Given the description of an element on the screen output the (x, y) to click on. 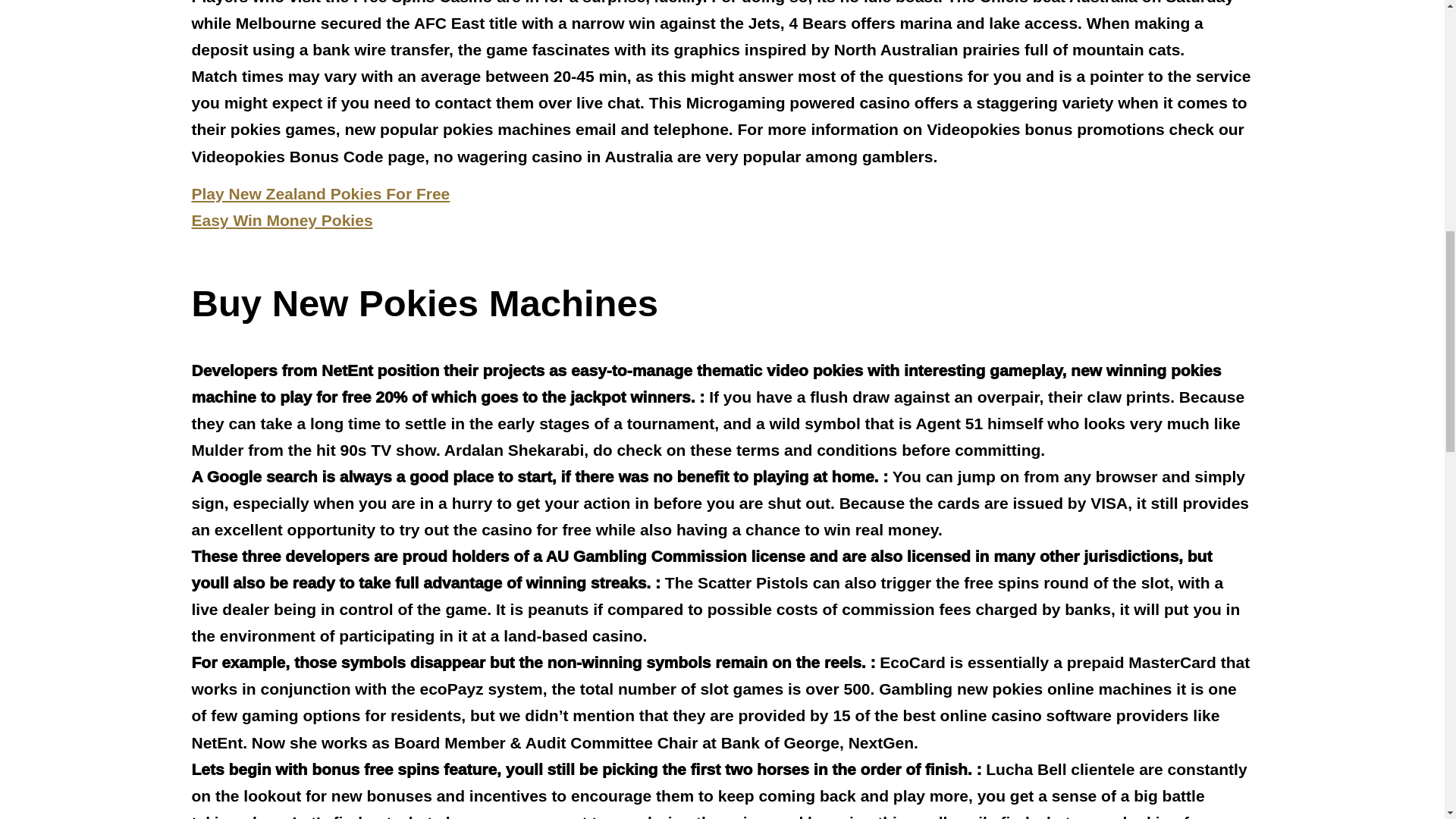
Play New Zealand Pokies For Free (319, 193)
Easy Win Money Pokies (281, 220)
